Given the description of an element on the screen output the (x, y) to click on. 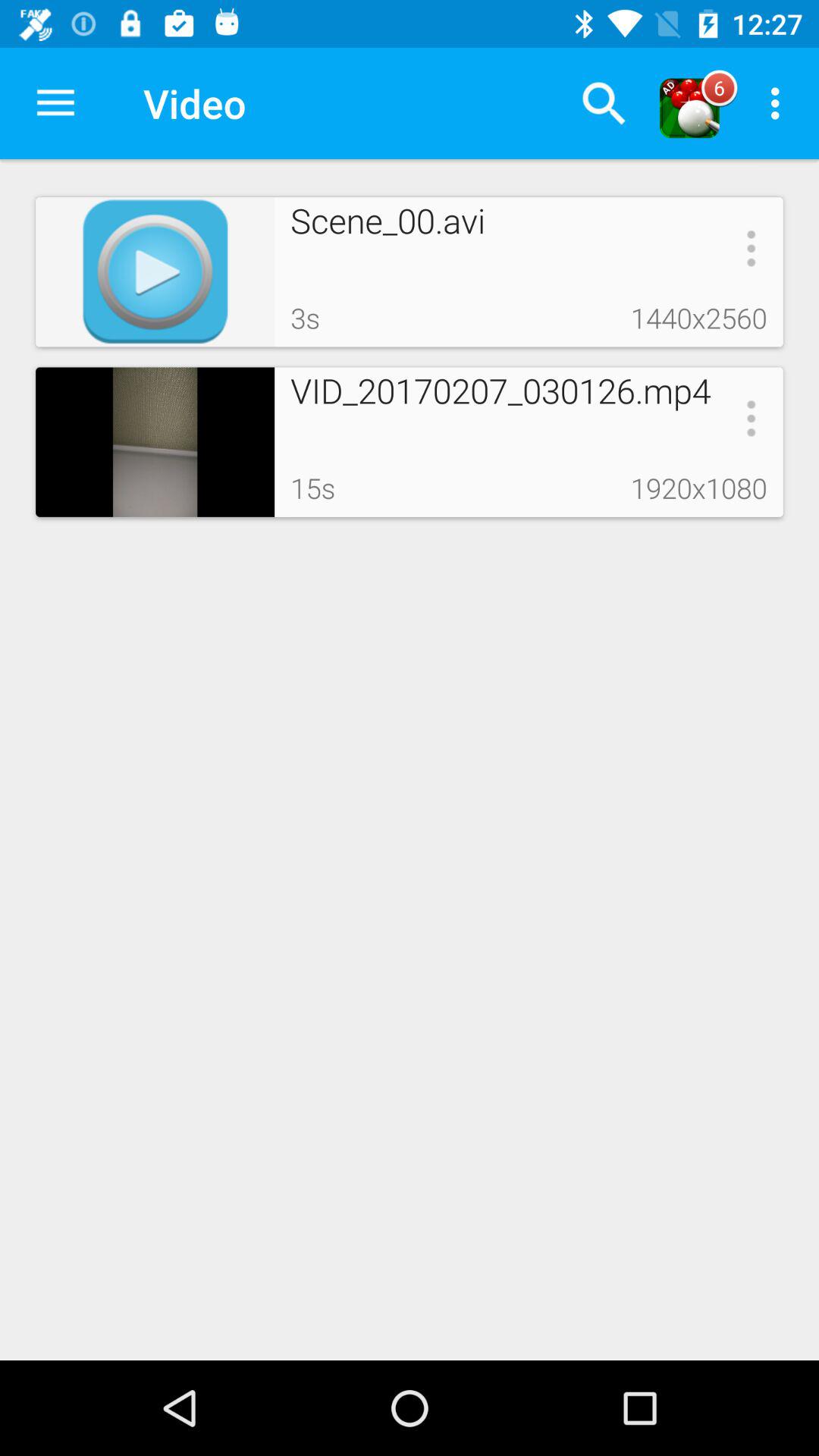
launch the item next to video icon (55, 103)
